Given the description of an element on the screen output the (x, y) to click on. 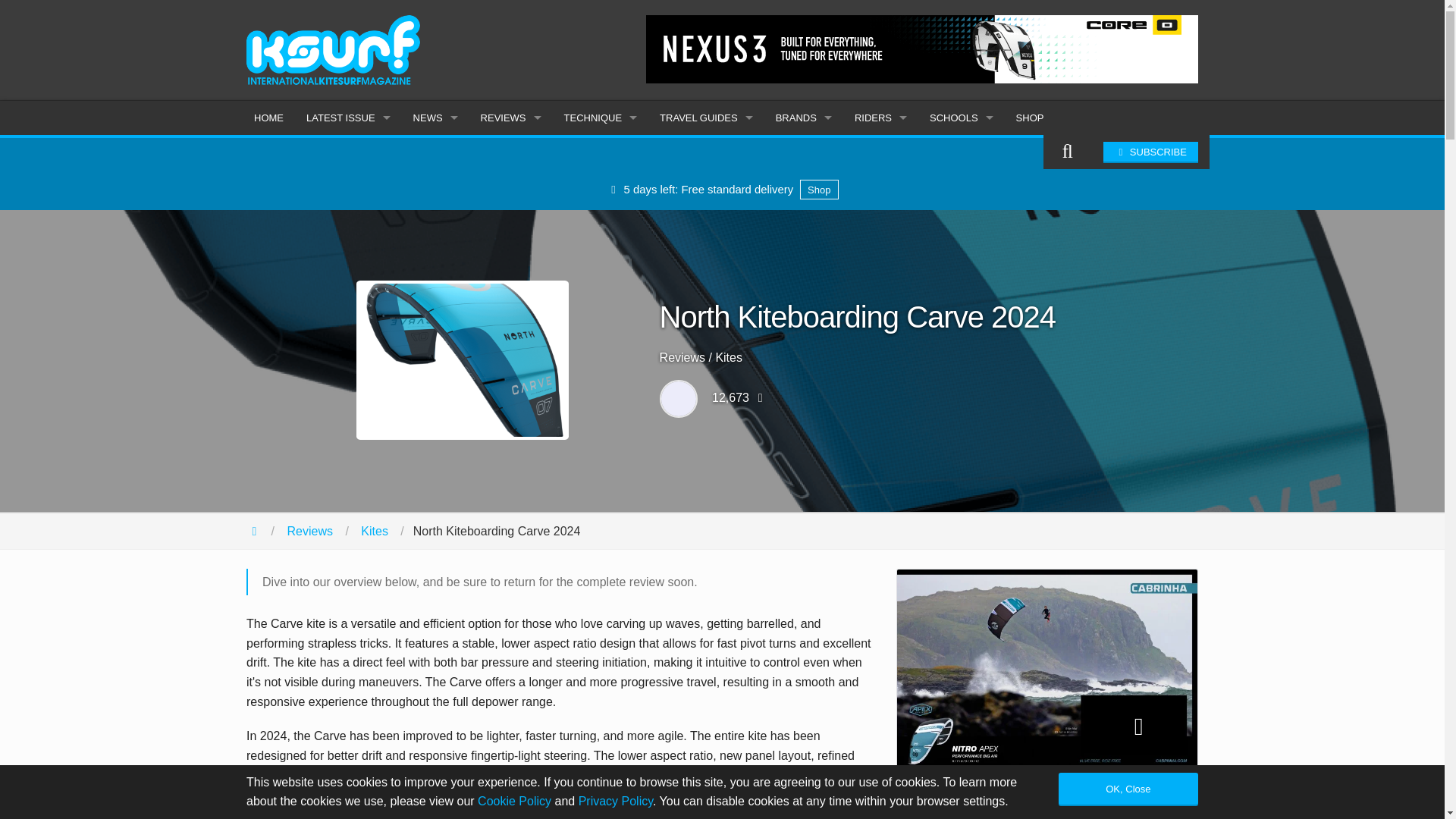
TRAVEL GUIDES (705, 117)
NEWS (434, 117)
ARTICLES (348, 188)
KITES (510, 154)
FEATURES (434, 188)
REVIEWS (510, 117)
BOARDS (510, 188)
TECHNIQUE (601, 117)
WETSUITS (510, 291)
INTERMEDIATE (601, 188)
BEGINNER (601, 154)
HOME (269, 117)
AWARDS (434, 291)
EVENTS (434, 257)
LATEST ISSUE (348, 117)
